Given the description of an element on the screen output the (x, y) to click on. 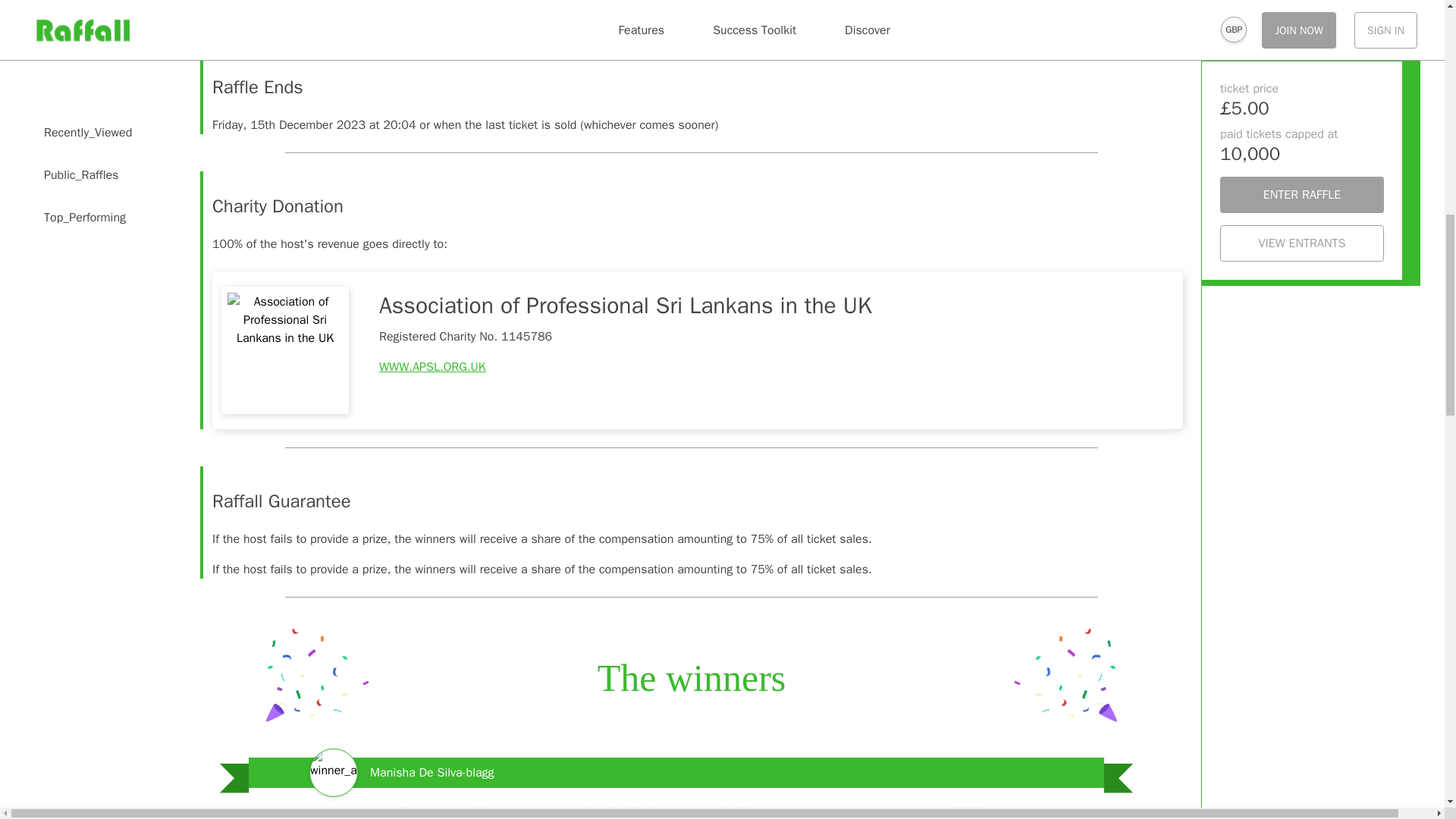
WWW.APSL.ORG.UK (432, 366)
